Given the description of an element on the screen output the (x, y) to click on. 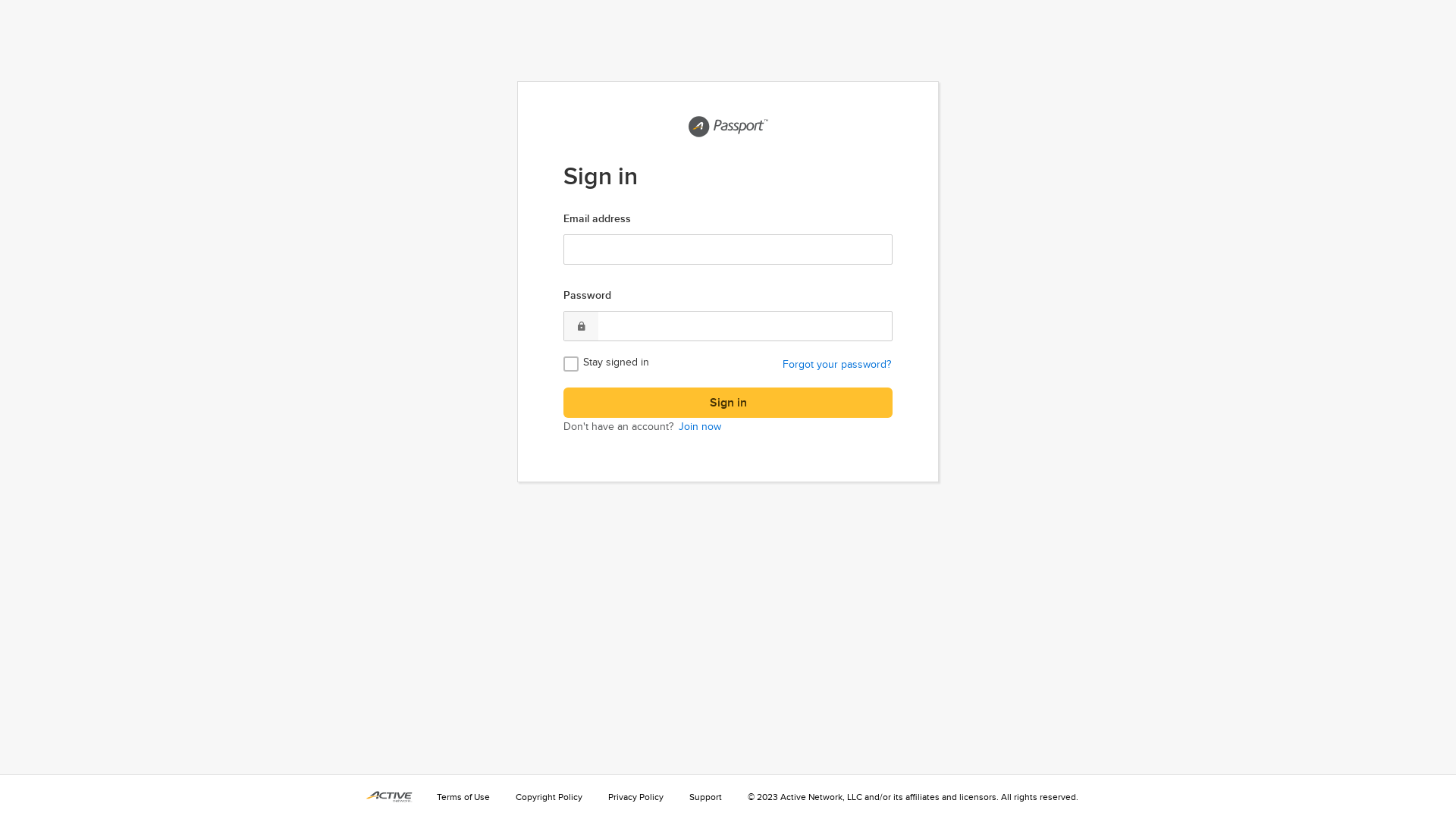
Support Element type: text (704, 796)
Sign in Element type: text (727, 402)
Privacy Policy Element type: text (635, 796)
Copyright Policy Element type: text (548, 796)
Terms of Use Element type: text (463, 796)
Forgot your password? Element type: text (810, 364)
Join now Element type: text (697, 426)
